Given the description of an element on the screen output the (x, y) to click on. 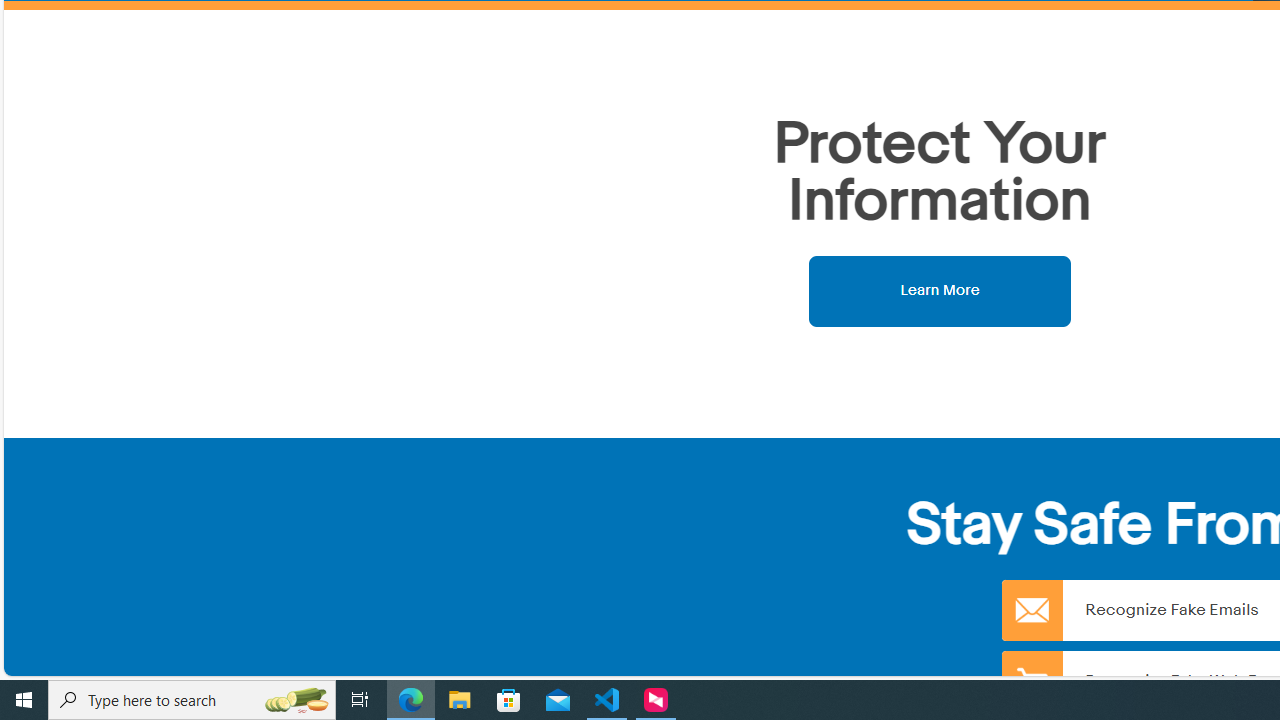
Learn More (939, 290)
